Given the description of an element on the screen output the (x, y) to click on. 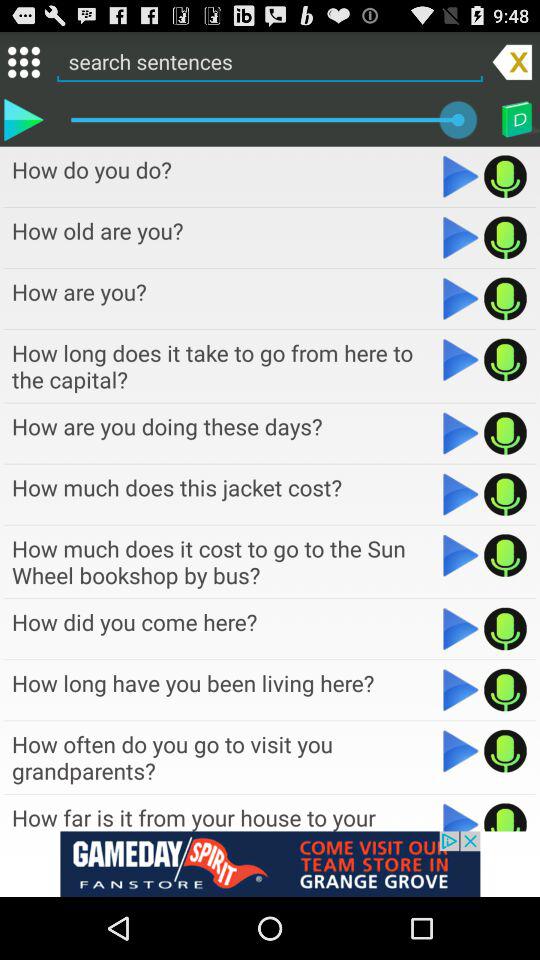
audio button click (505, 555)
